Given the description of an element on the screen output the (x, y) to click on. 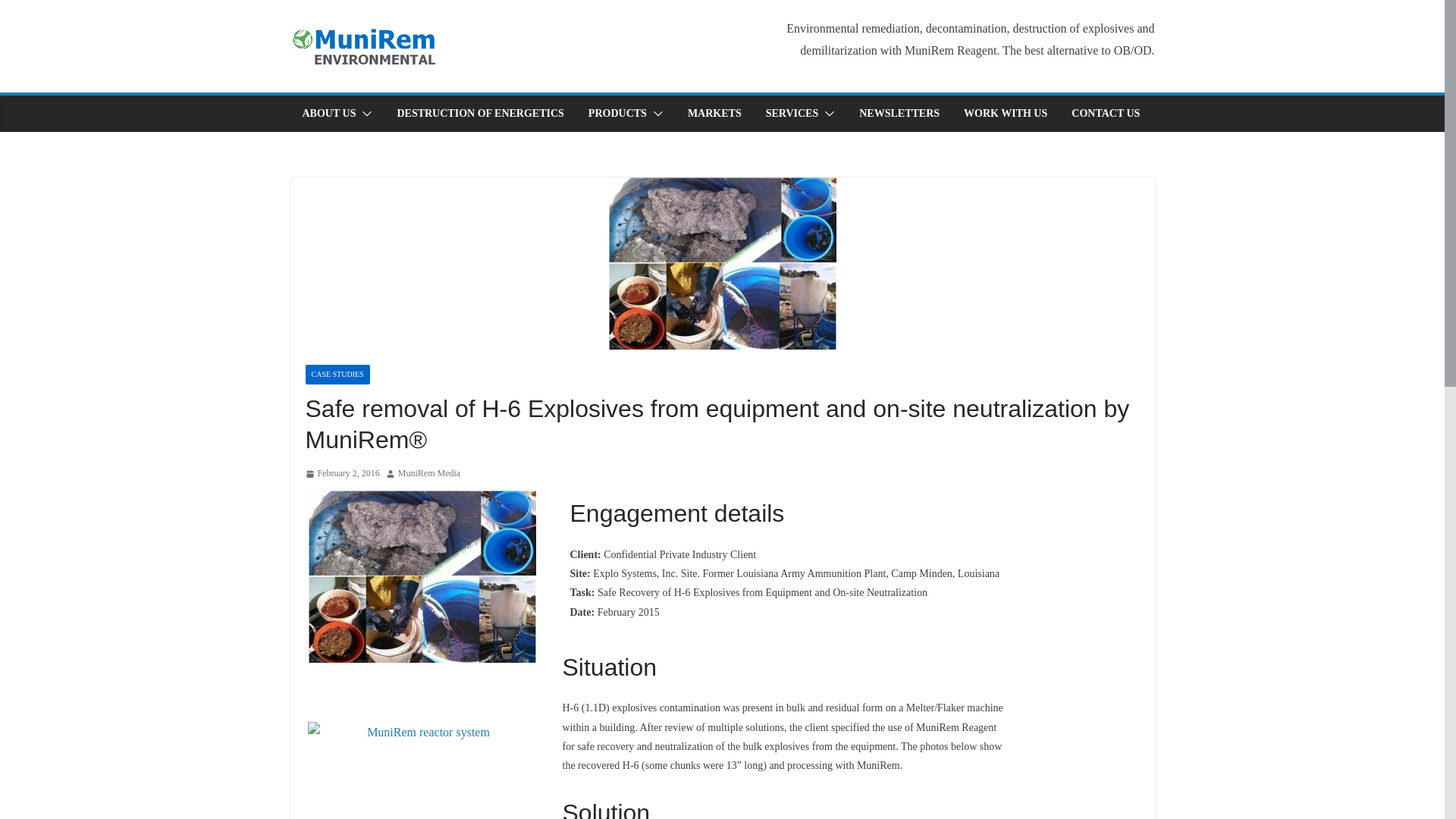
MuniRem Media (428, 474)
05:00 (341, 474)
MuniRem Media (428, 474)
DESTRUCTION OF ENERGETICS (479, 113)
NEWSLETTERS (899, 113)
February 2, 2016 (341, 474)
WORK WITH US (1004, 113)
MARKETS (714, 113)
CASE STUDIES (336, 374)
CONTACT US (1105, 113)
